Given the description of an element on the screen output the (x, y) to click on. 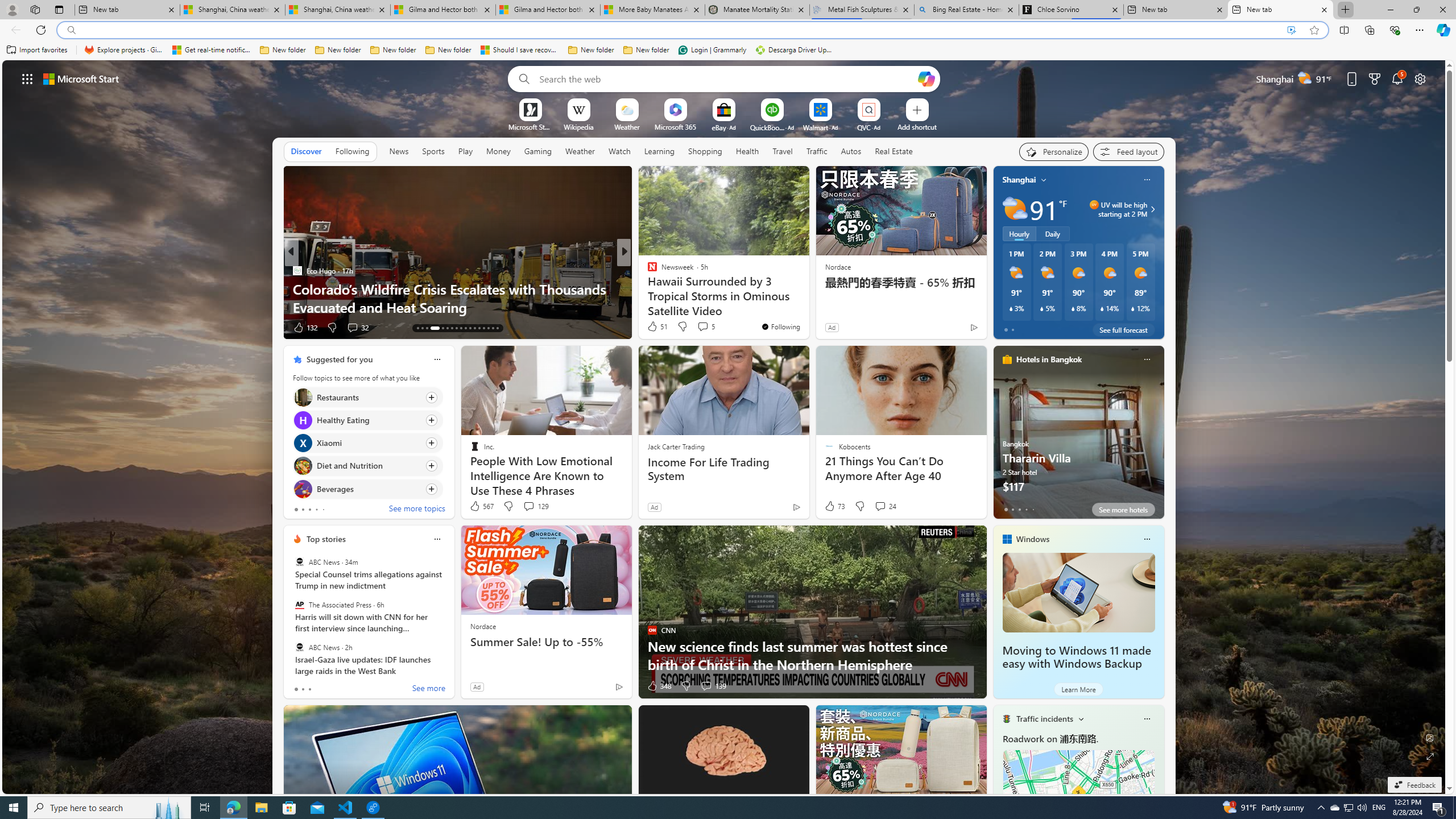
Daily (1052, 233)
The Cancelled Version of Windows (807, 307)
Diet and Nutrition (302, 466)
Moving to Windows 11 made easy with Windows Backup (1077, 592)
AutomationID: tab-19 (426, 328)
51 Like (657, 326)
Health (746, 151)
Traffic incidents (1044, 718)
